Given the description of an element on the screen output the (x, y) to click on. 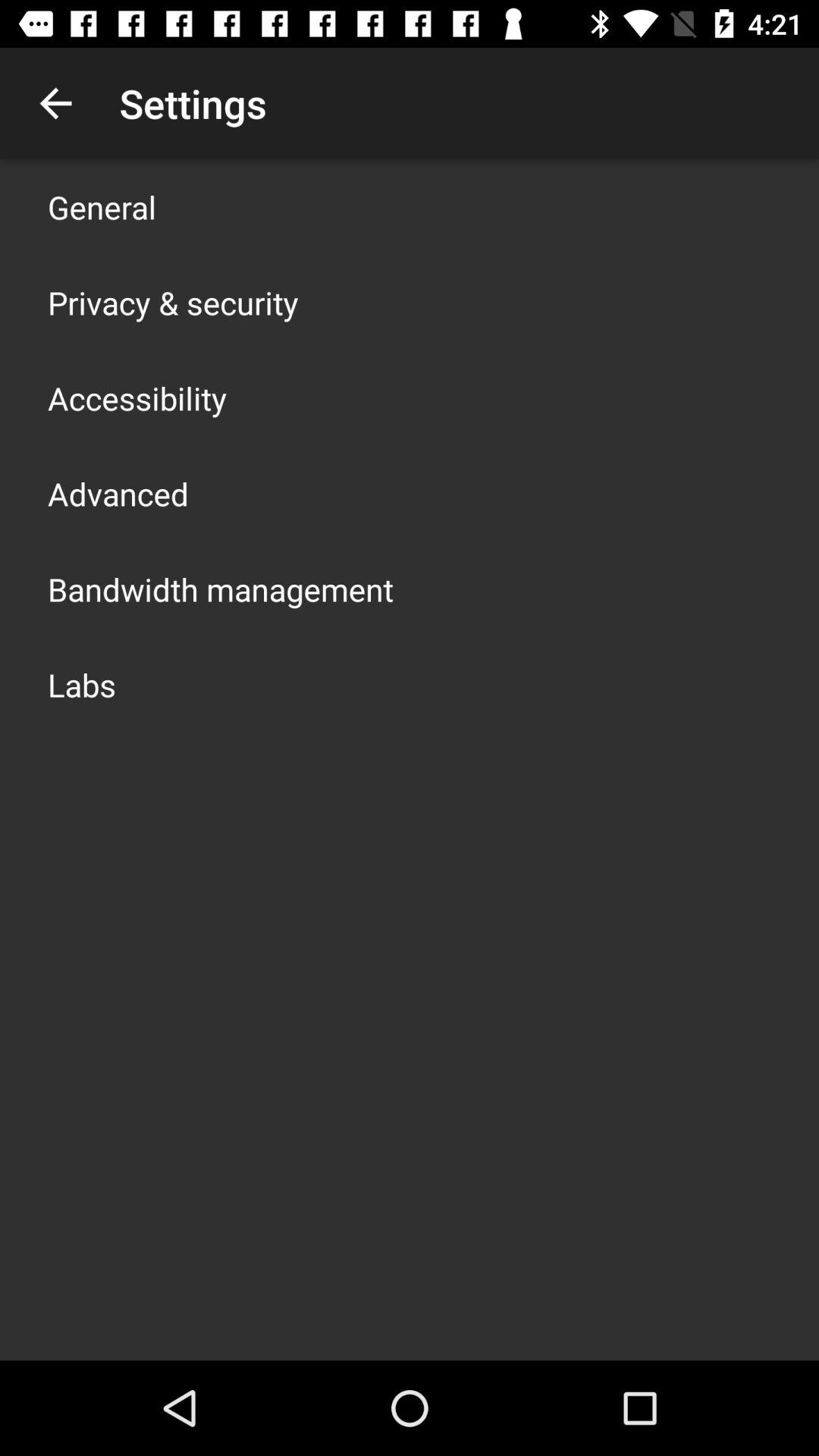
open the app above labs app (220, 588)
